Given the description of an element on the screen output the (x, y) to click on. 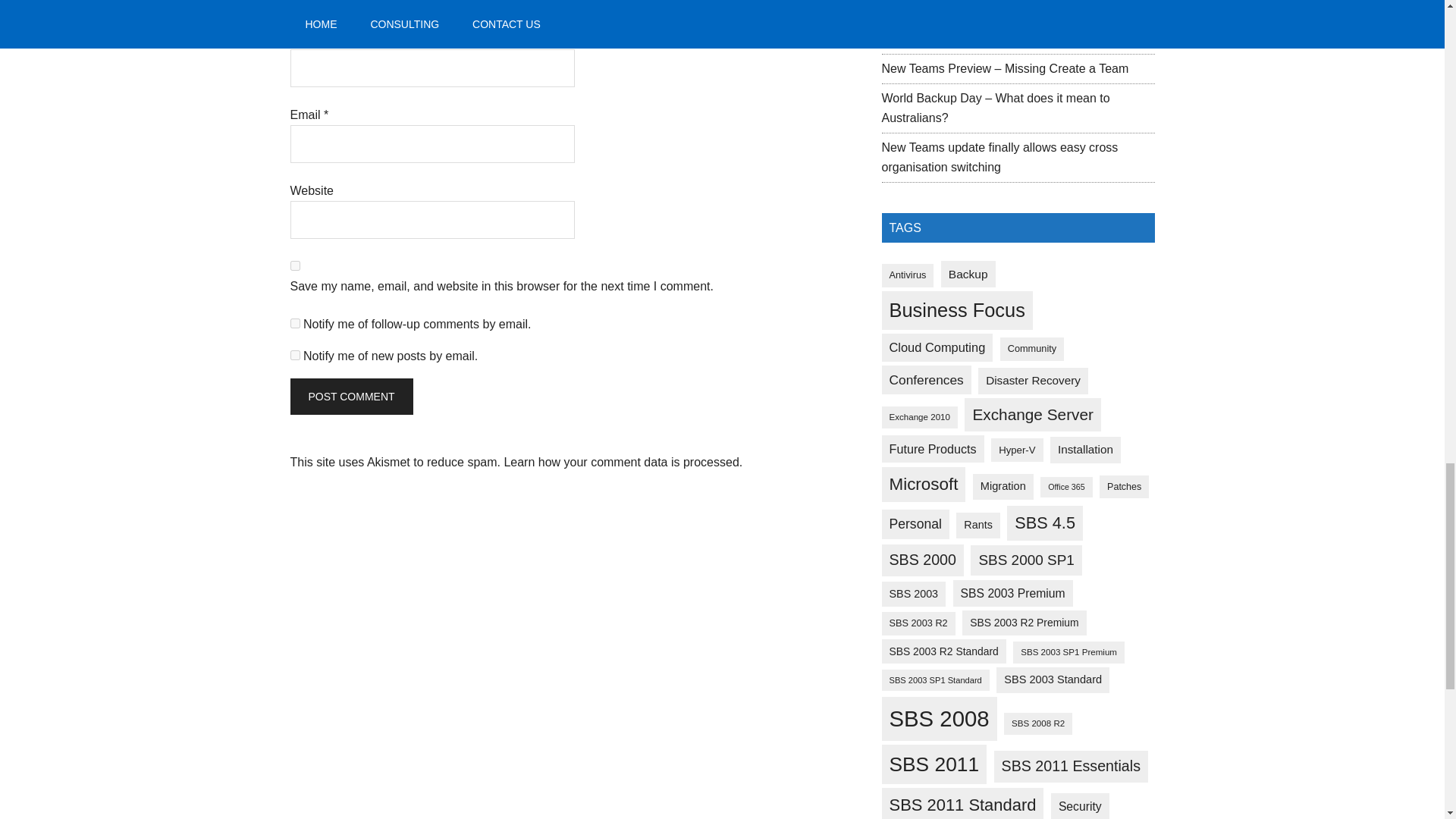
Post Comment (350, 396)
Learn how your comment data is processed (620, 461)
Post Comment (350, 396)
subscribe (294, 355)
subscribe (294, 323)
yes (294, 266)
